Given the description of an element on the screen output the (x, y) to click on. 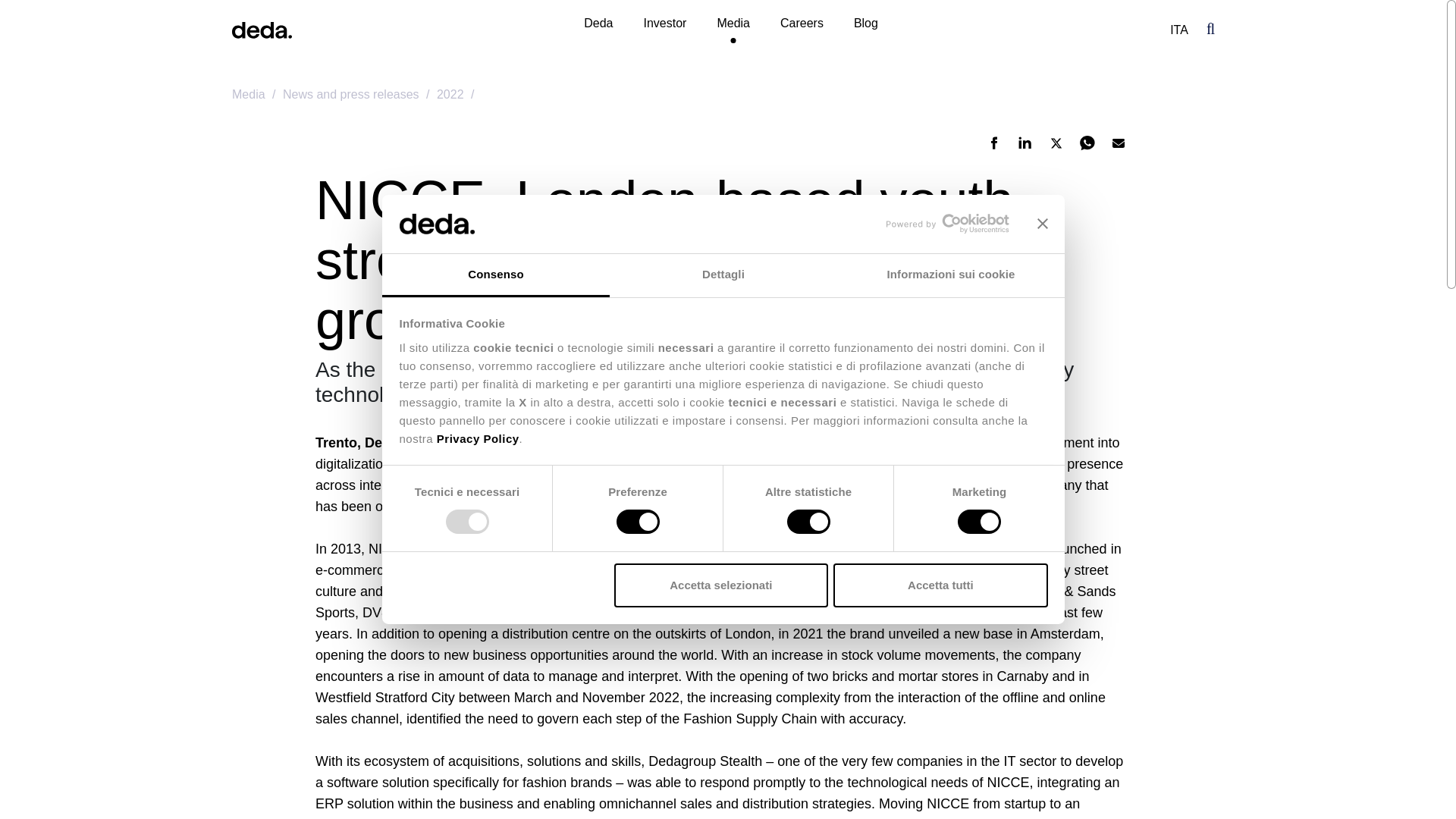
Informazioni sui cookie (950, 275)
Go to Corporate website (477, 438)
Dettagli (723, 275)
Privacy Policy (477, 438)
Consenso (495, 275)
